Given the description of an element on the screen output the (x, y) to click on. 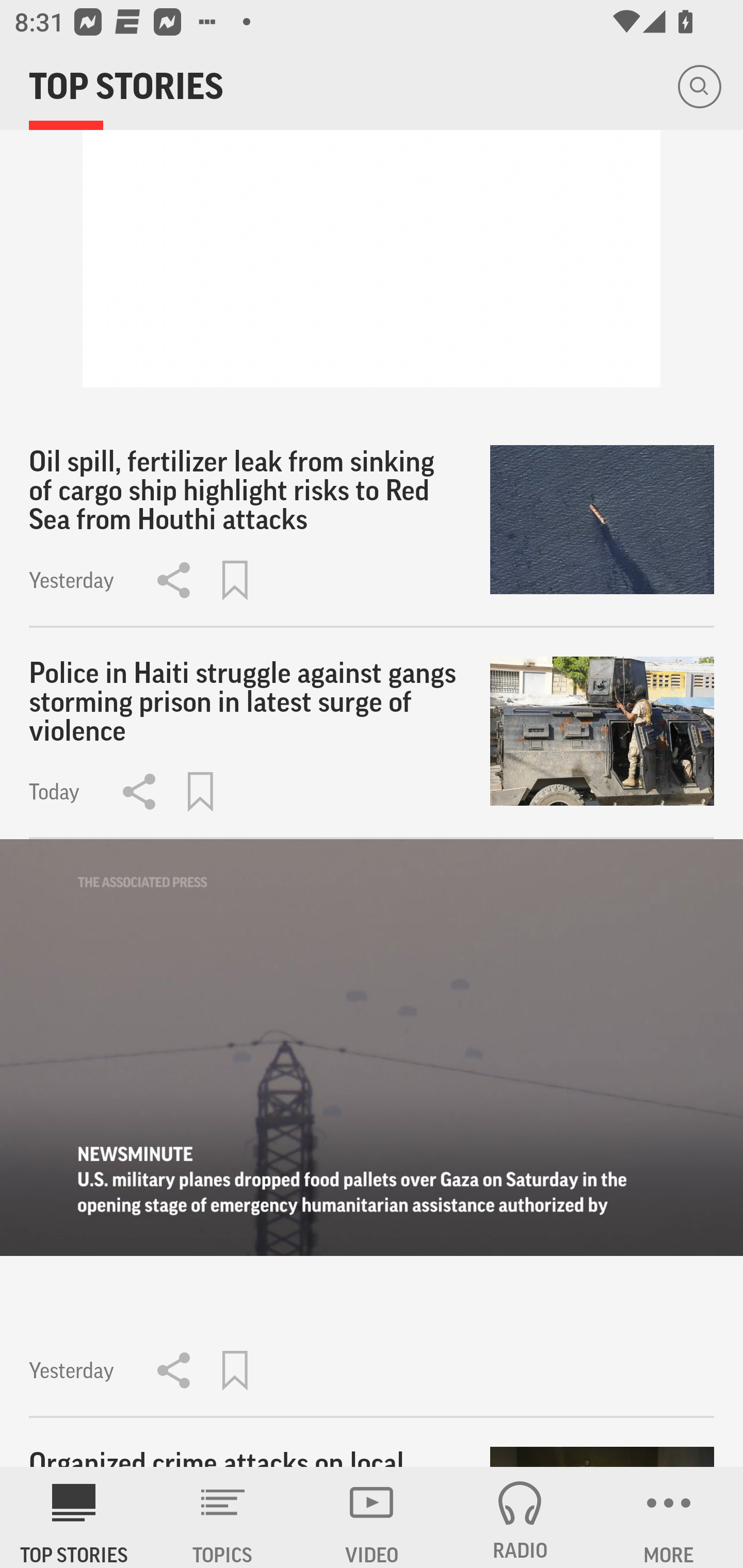
toggle controls Yesterday (371, 1127)
toggle controls (371, 1046)
AP News TOP STORIES (74, 1517)
TOPICS (222, 1517)
VIDEO (371, 1517)
RADIO (519, 1517)
MORE (668, 1517)
